Given the description of an element on the screen output the (x, y) to click on. 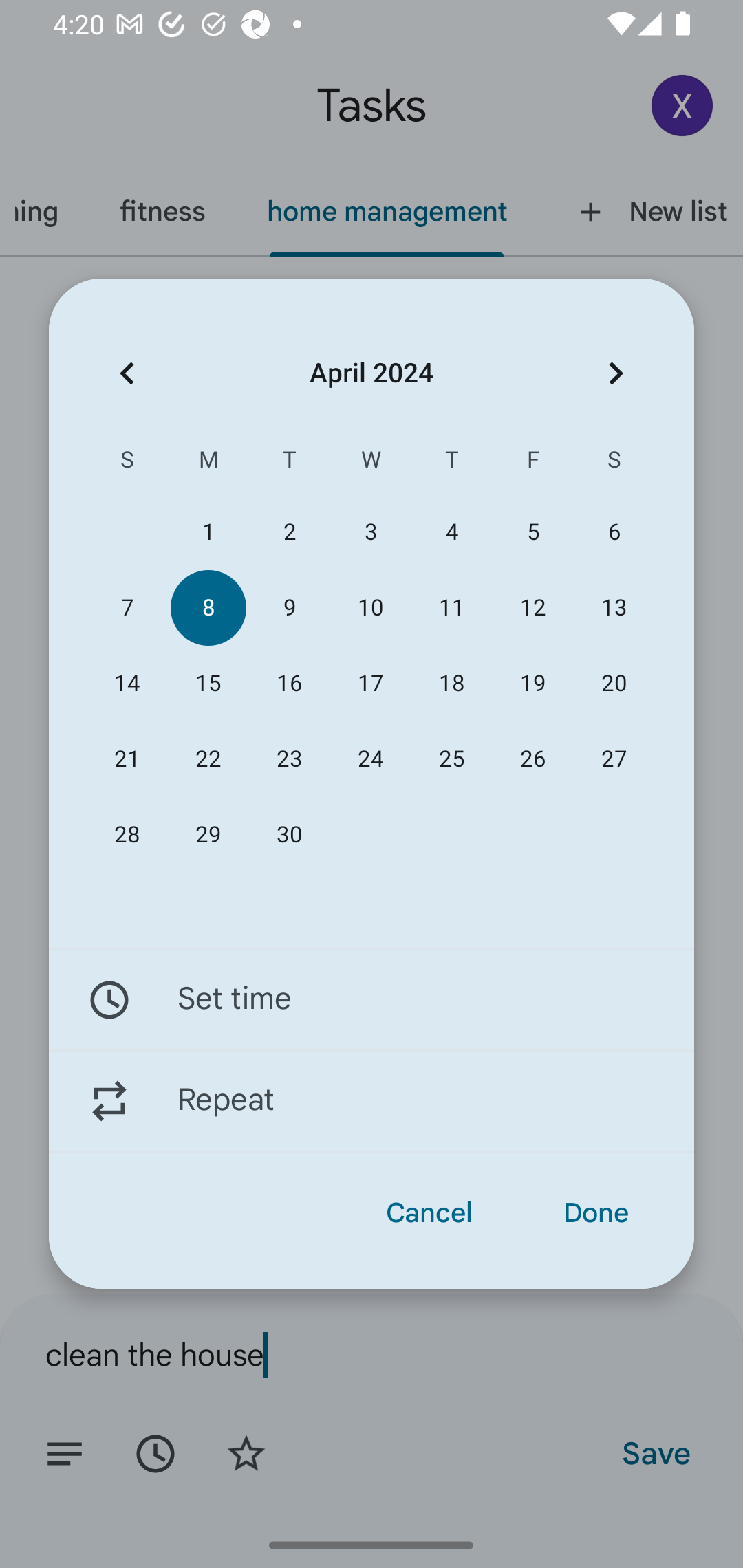
Previous month (126, 372)
Next month (615, 372)
1 01 April 2024 (207, 531)
2 02 April 2024 (288, 531)
3 03 April 2024 (370, 531)
4 04 April 2024 (451, 531)
5 05 April 2024 (532, 531)
6 06 April 2024 (613, 531)
7 07 April 2024 (126, 608)
8 08 April 2024 (207, 608)
9 09 April 2024 (288, 608)
10 10 April 2024 (370, 608)
11 11 April 2024 (451, 608)
12 12 April 2024 (532, 608)
13 13 April 2024 (613, 608)
14 14 April 2024 (126, 683)
15 15 April 2024 (207, 683)
16 16 April 2024 (288, 683)
17 17 April 2024 (370, 683)
18 18 April 2024 (451, 683)
19 19 April 2024 (532, 683)
20 20 April 2024 (613, 683)
21 21 April 2024 (126, 758)
22 22 April 2024 (207, 758)
23 23 April 2024 (288, 758)
24 24 April 2024 (370, 758)
25 25 April 2024 (451, 758)
26 26 April 2024 (532, 758)
27 27 April 2024 (613, 758)
28 28 April 2024 (126, 834)
29 29 April 2024 (207, 834)
30 30 April 2024 (288, 834)
Set time (371, 999)
Repeat (371, 1101)
Cancel (429, 1213)
Done (595, 1213)
